Given the description of an element on the screen output the (x, y) to click on. 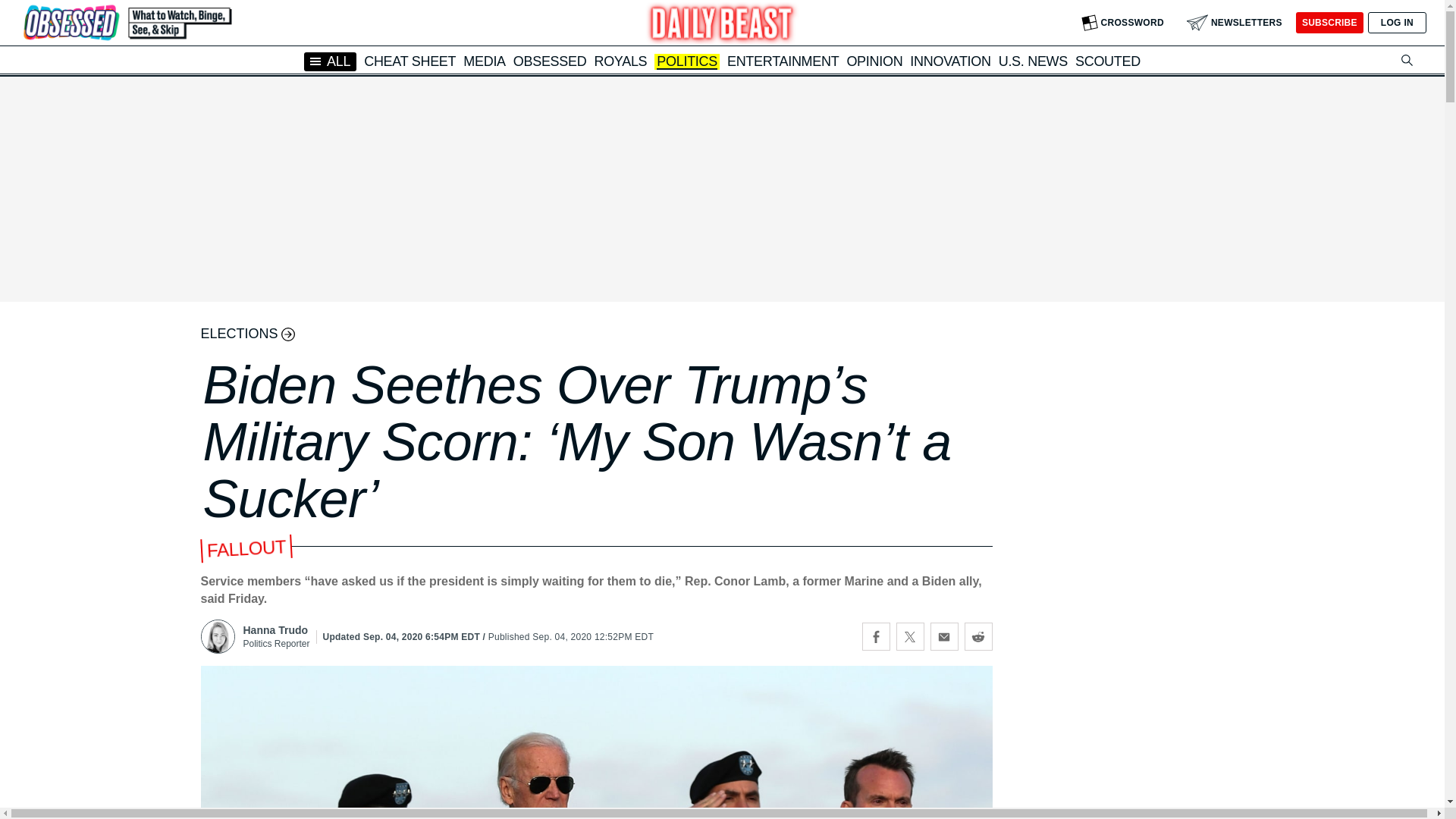
ENTERTAINMENT (782, 60)
OBSESSED (549, 60)
CROSSWORD (1122, 22)
LOG IN (1397, 22)
ALL (330, 60)
CHEAT SHEET (409, 60)
NEWSLETTERS (1234, 22)
ROYALS (620, 60)
SCOUTED (1107, 60)
INNOVATION (950, 60)
MEDIA (484, 60)
SUBSCRIBE (1328, 22)
OPINION (873, 60)
U.S. NEWS (1032, 60)
POLITICS (686, 61)
